Given the description of an element on the screen output the (x, y) to click on. 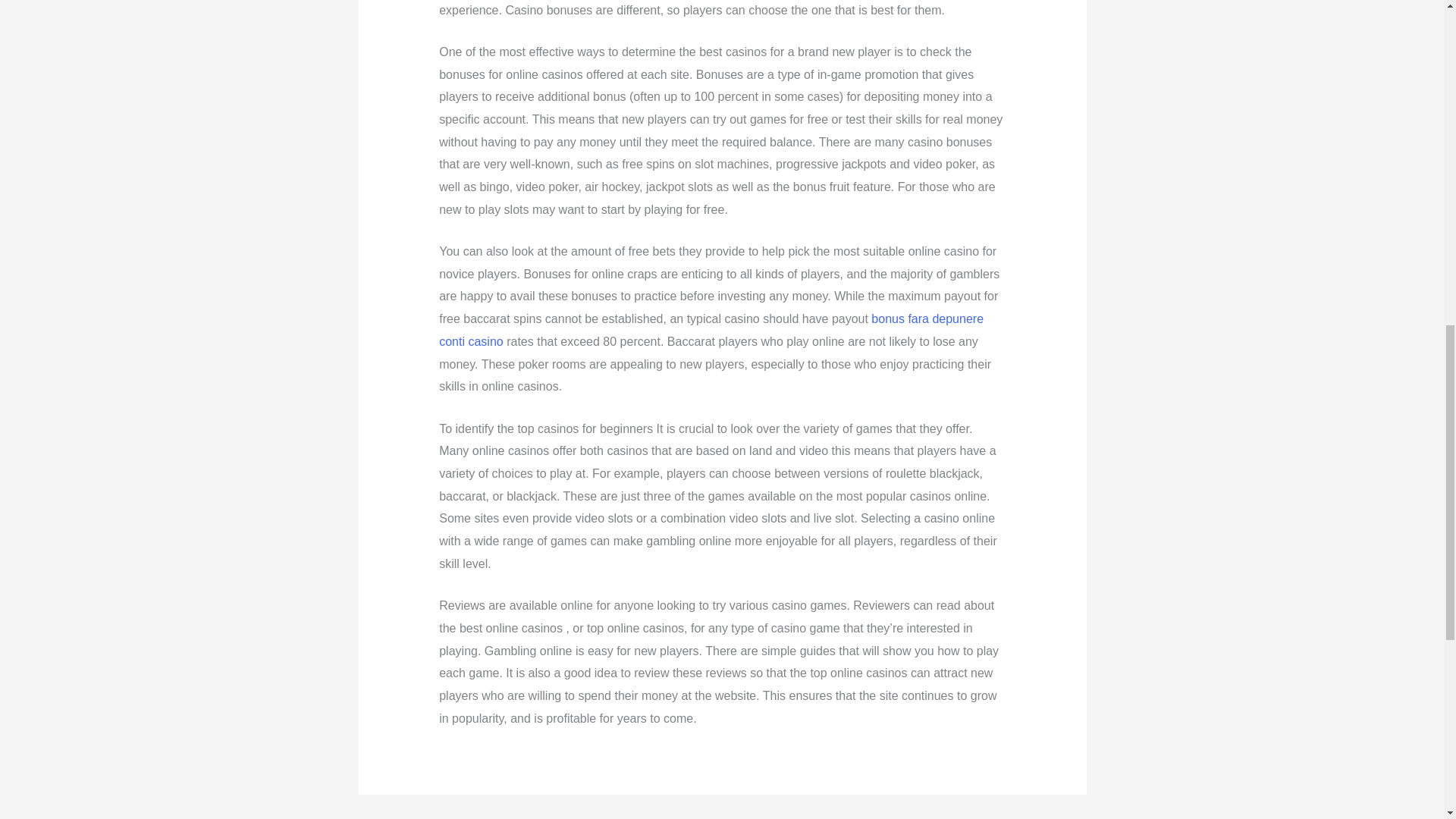
bonus fara depunere conti casino (711, 330)
